Given the description of an element on the screen output the (x, y) to click on. 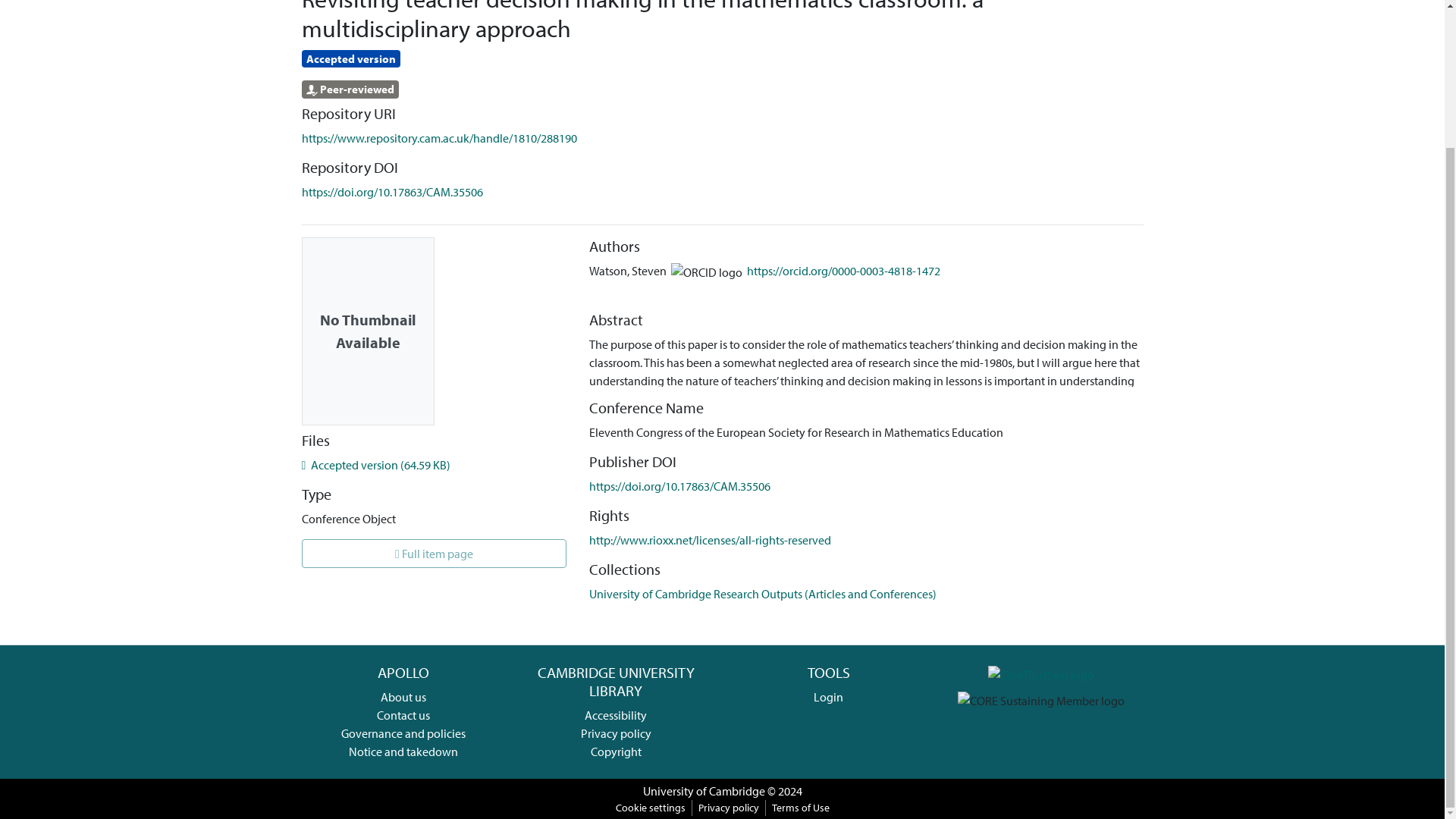
Contact us (403, 714)
Notice and takedown (403, 751)
About us (403, 696)
Privacy policy (615, 733)
Full item page (434, 553)
Governance and policies (402, 733)
Accessibility (615, 714)
Apollo CTS full application (1041, 672)
